Given the description of an element on the screen output the (x, y) to click on. 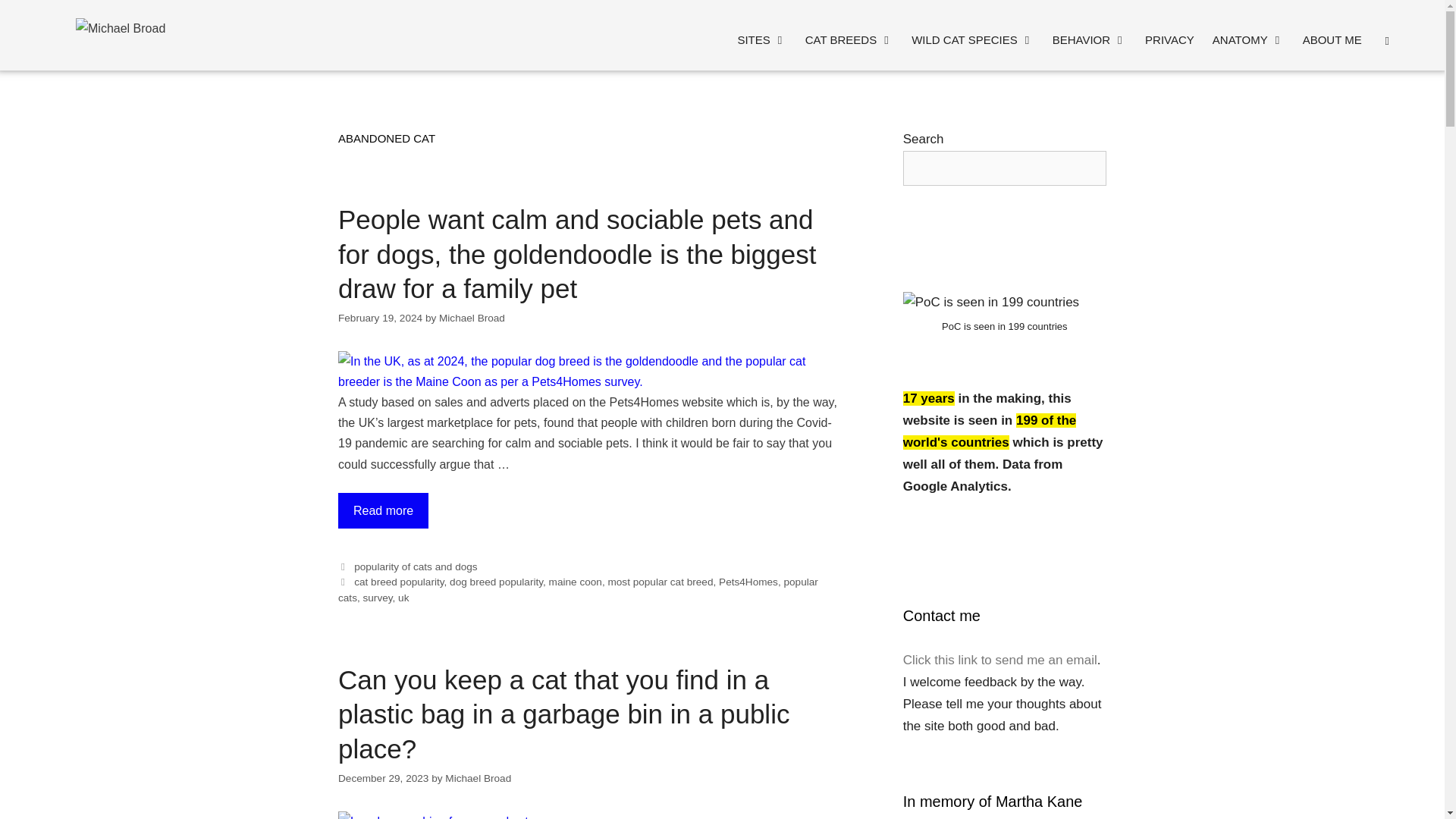
BEHAVIOR (1089, 40)
CAT BREEDS (849, 40)
Mega-big page on all aspects (1089, 40)
All the cat breeds fully discussed and illustrated (849, 40)
All the wild cat species listed (972, 40)
SITES (761, 40)
Covering feline anatomy in detail (1249, 40)
WILD CAT SPECIES (972, 40)
